Given the description of an element on the screen output the (x, y) to click on. 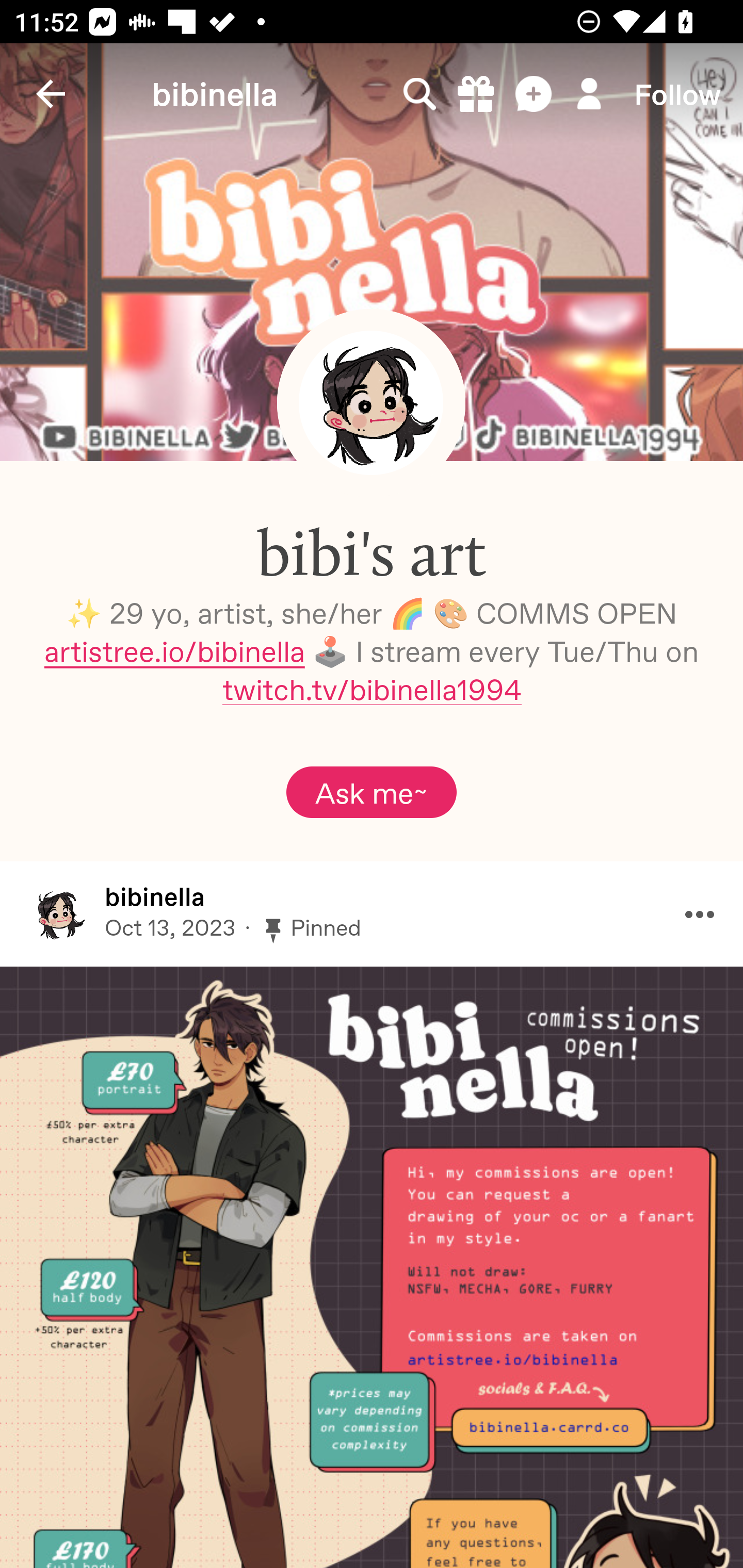
Navigate up (50, 93)
Messages (535, 93)
Follow (677, 93)
Avatar frame (371, 402)
Ask me~ (371, 792)
